Given the description of an element on the screen output the (x, y) to click on. 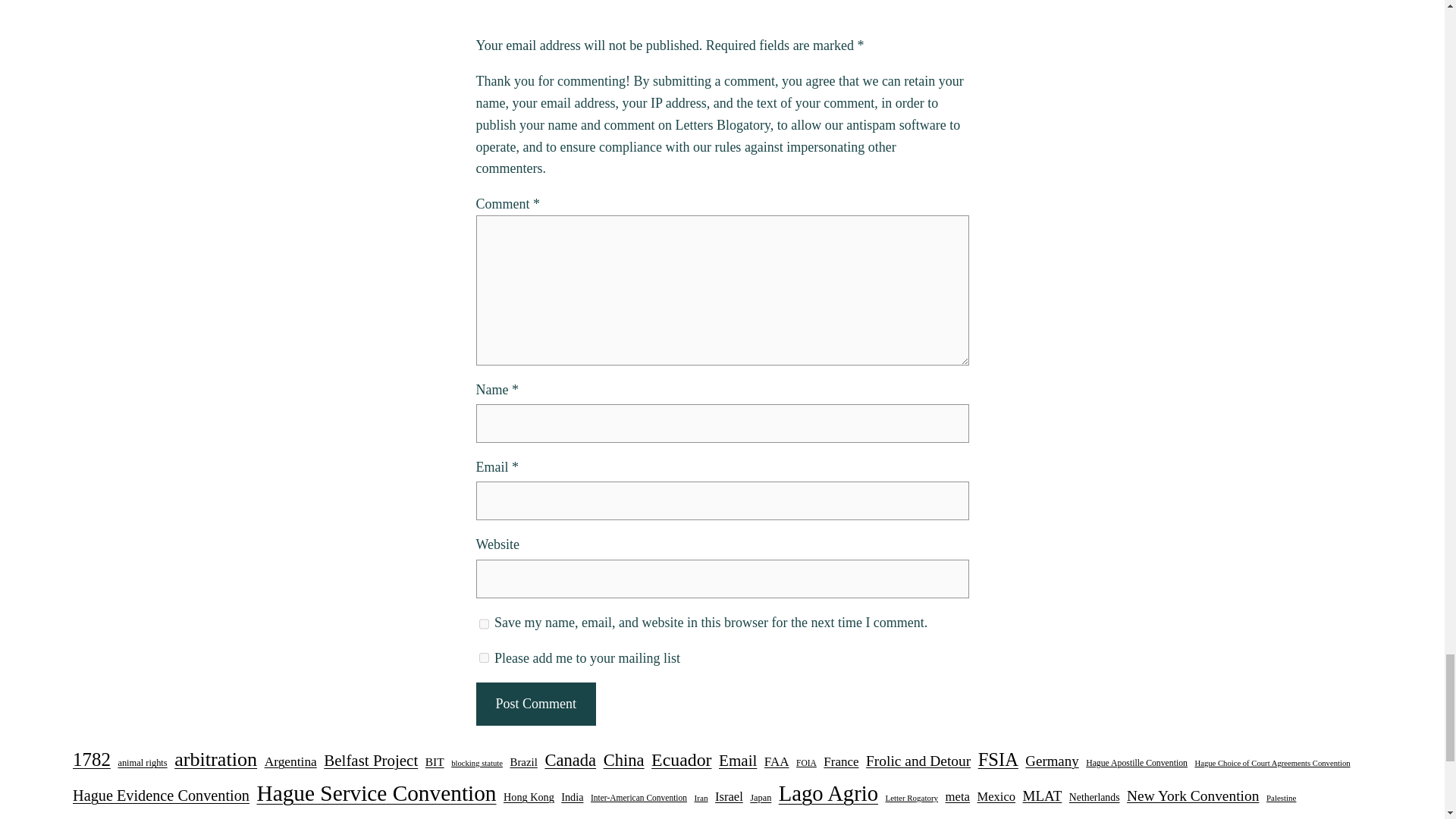
1 (484, 657)
animal rights (142, 763)
Post Comment (535, 703)
Post Comment (535, 703)
1782 (91, 759)
